Given the description of an element on the screen output the (x, y) to click on. 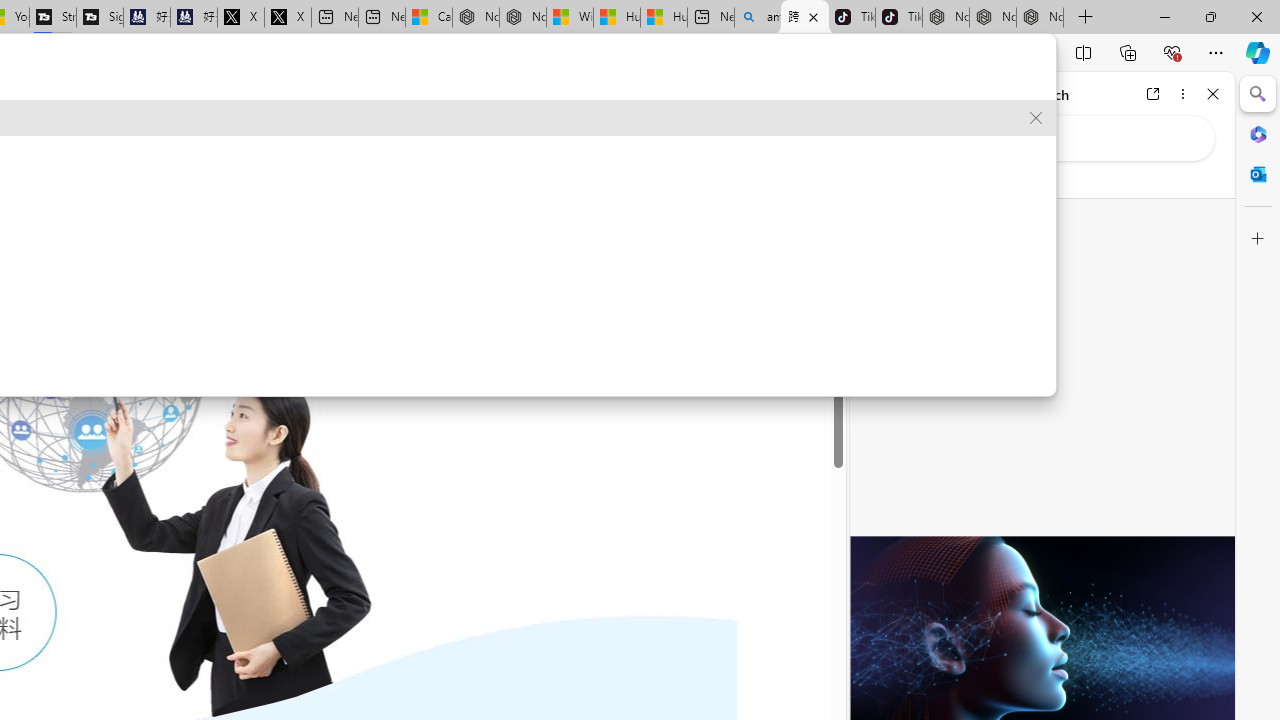
Nordace - Siena Pro 15 Essential Set (1040, 17)
Nordace Siena Pro 15 Backpack (993, 17)
